Given the description of an element on the screen output the (x, y) to click on. 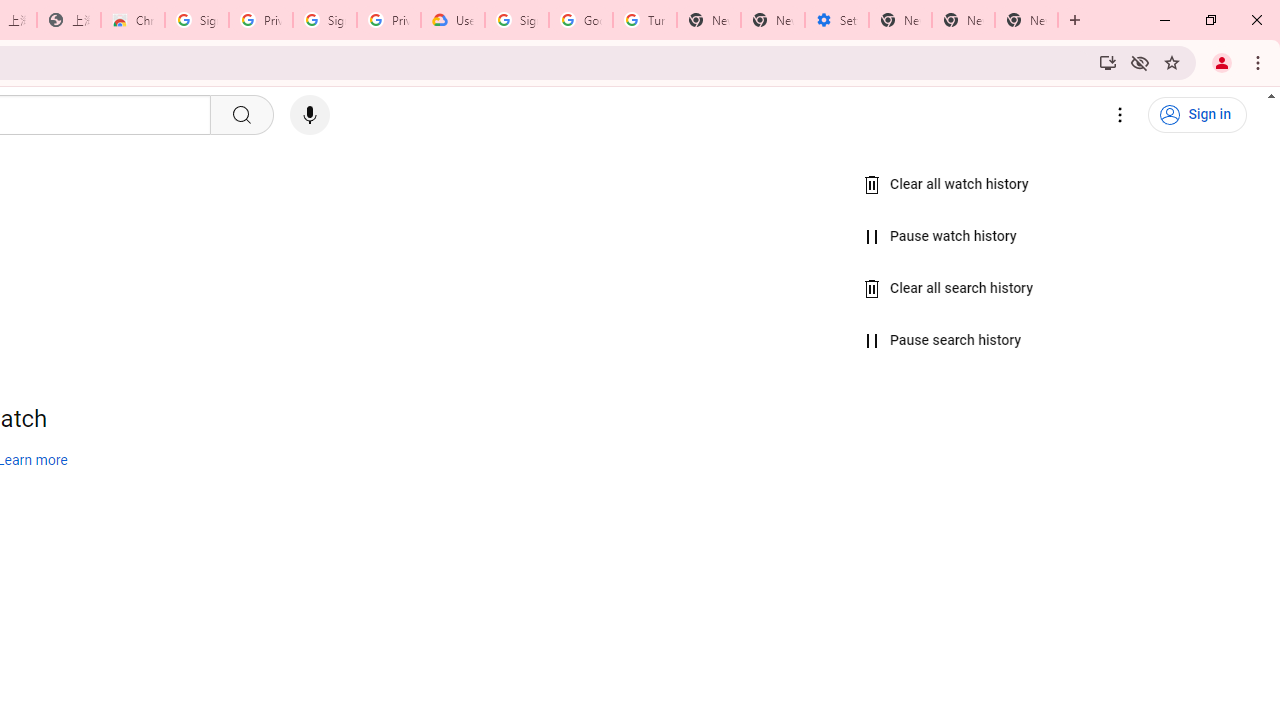
Settings - System (837, 20)
Clear all search history (949, 288)
Sign in - Google Accounts (325, 20)
Google Account Help (581, 20)
Pause search history (942, 341)
Install YouTube (1107, 62)
Sign in - Google Accounts (517, 20)
